Given the description of an element on the screen output the (x, y) to click on. 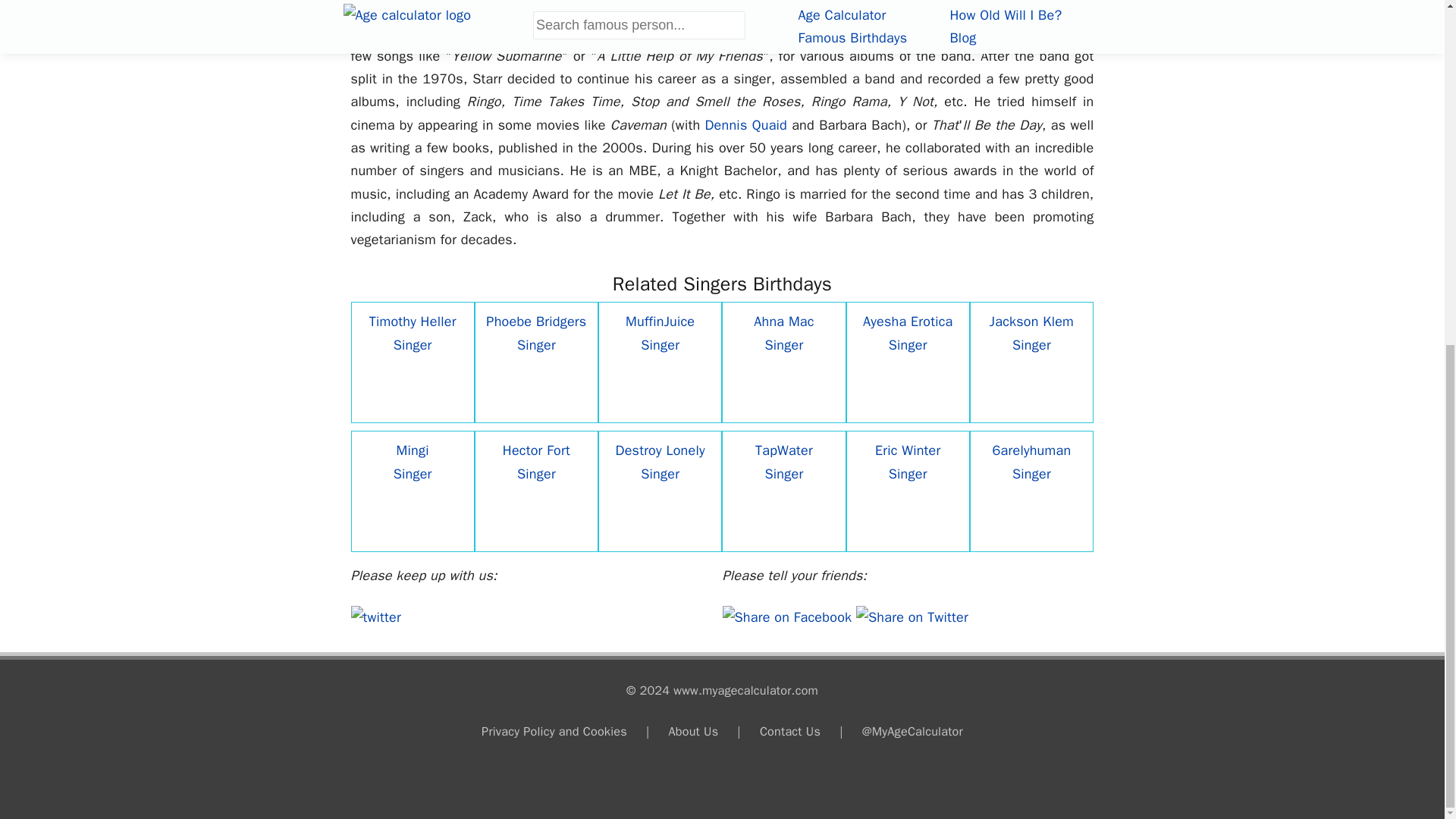
Paul McCartney (483, 9)
Contact Us (790, 731)
Dennis Quaid (745, 125)
George Harrison (721, 9)
About Us (692, 731)
Privacy Policy and Cookies (554, 731)
My Age Calculator Twitter (375, 617)
